Given the description of an element on the screen output the (x, y) to click on. 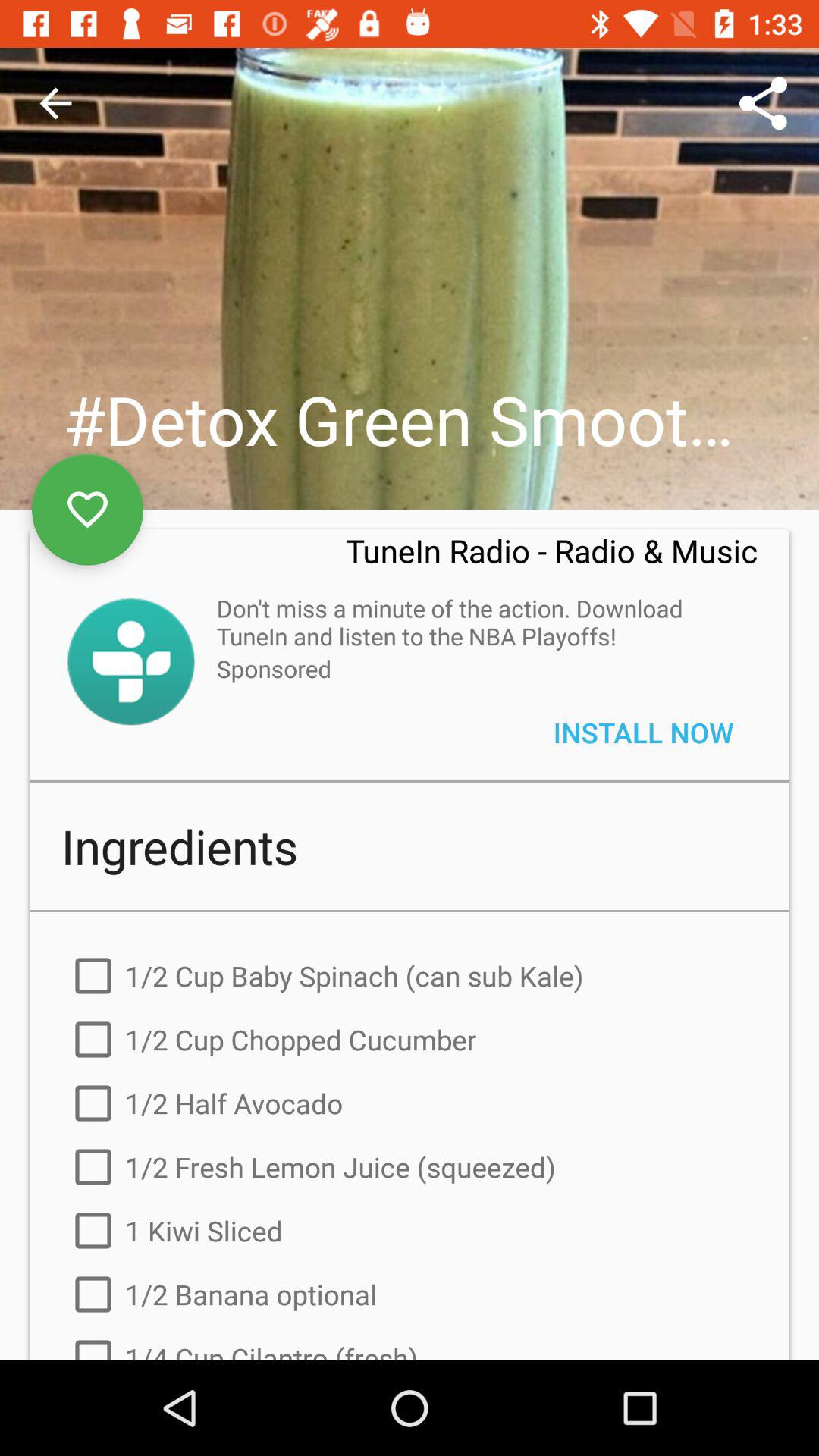
jump to 1 kiwi sliced (409, 1230)
